Given the description of an element on the screen output the (x, y) to click on. 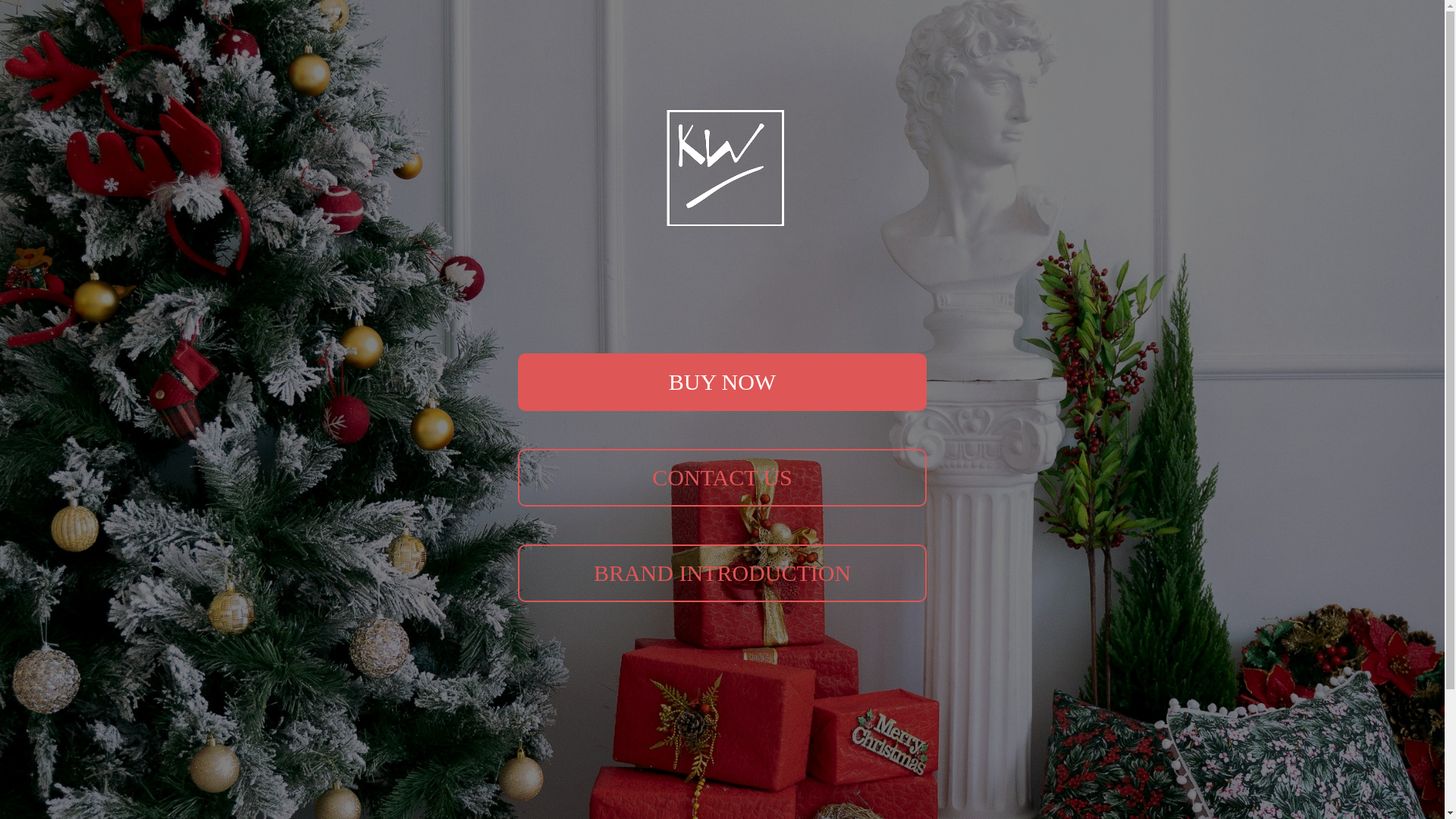
BRAND INTRODUCTION Element type: text (721, 573)
CONTACT US Element type: text (721, 477)
BUY NOW Element type: text (721, 382)
